Given the description of an element on the screen output the (x, y) to click on. 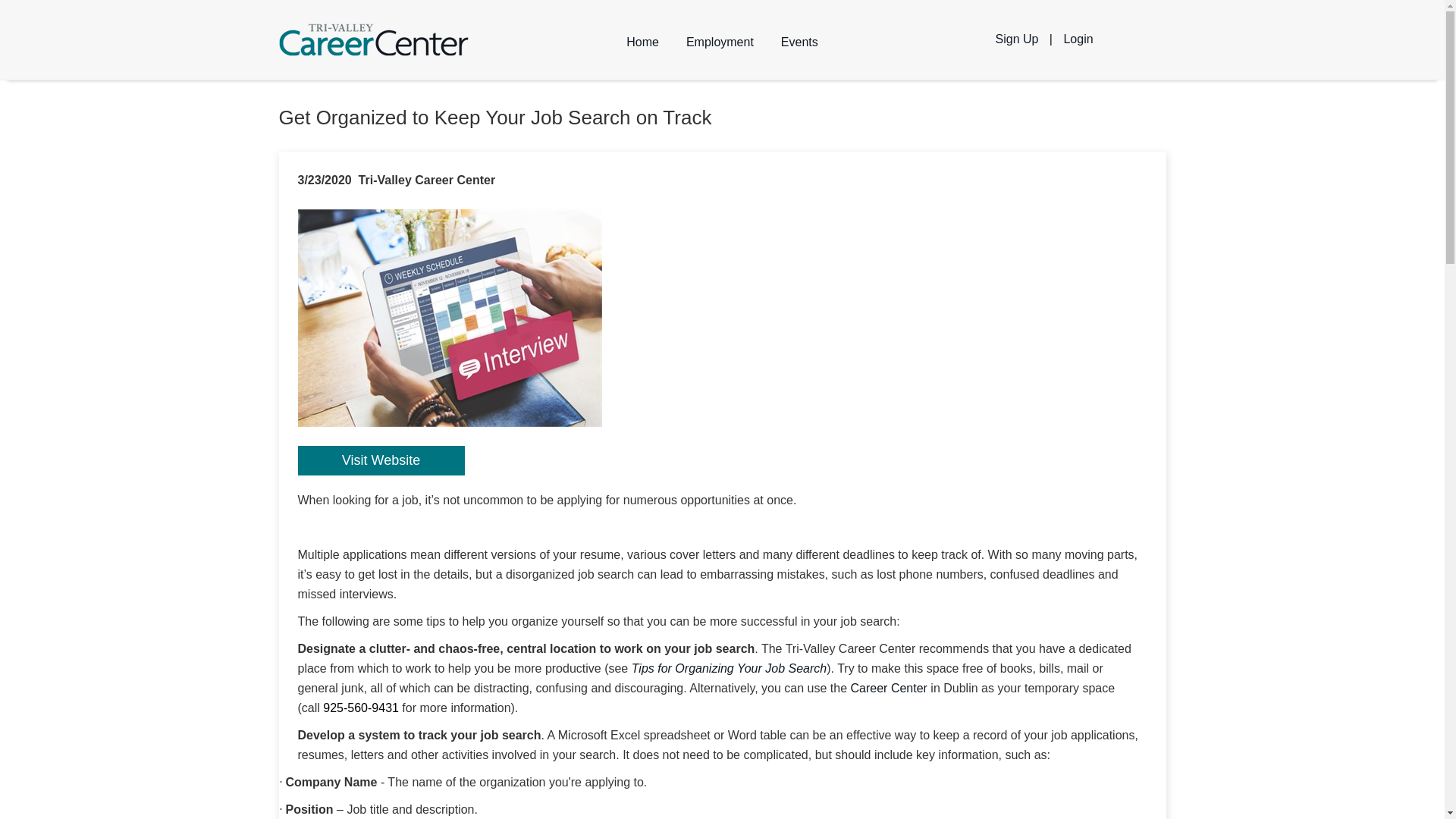
Get Organized to Keep Your Job Search on Track (449, 317)
Login (1077, 38)
Sign Up (1016, 38)
Events (799, 41)
Visit Website (381, 459)
Career Center (888, 687)
Employment (719, 41)
Home (642, 41)
Job Board - Tri-Valley Career Center (373, 39)
Tips for Organizing Your Job Search (729, 667)
925-560-9431 (360, 707)
